Given the description of an element on the screen output the (x, y) to click on. 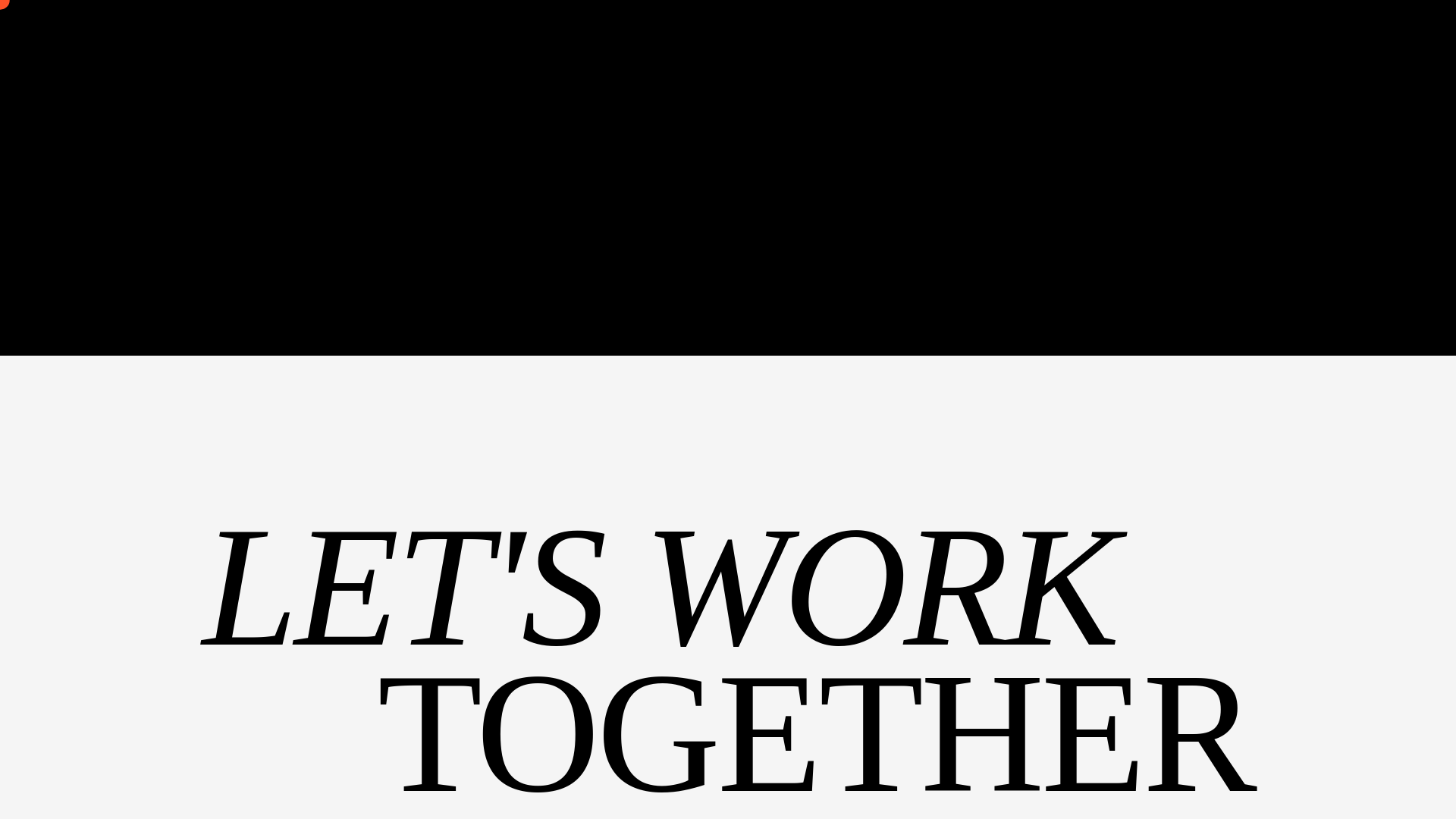
VIEW ALL PODCASTS (727, 23)
